Given the description of an element on the screen output the (x, y) to click on. 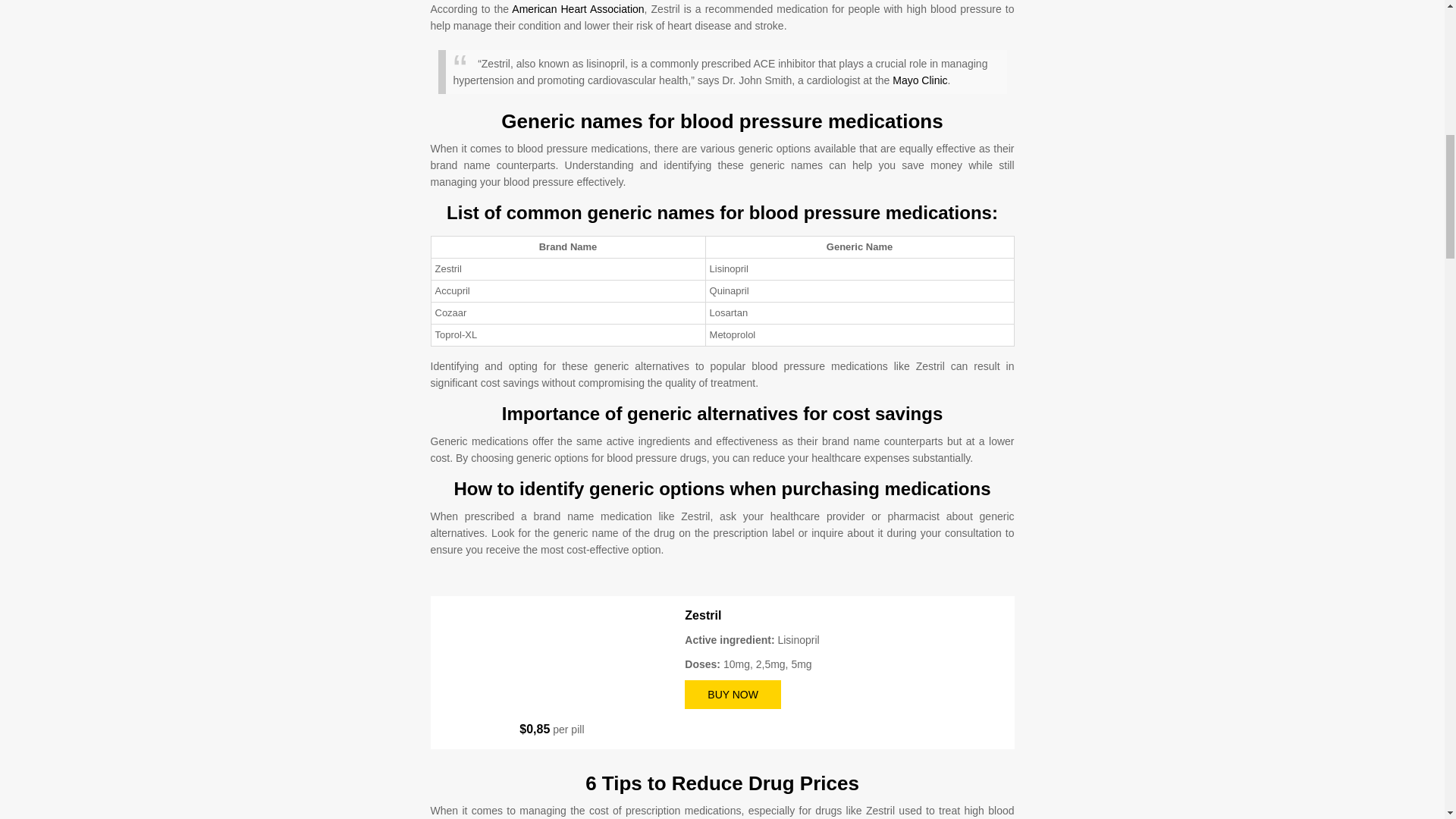
Mayo Clinic (919, 80)
BUY NOW (732, 694)
Buy Now (732, 694)
American Heart Association (577, 9)
